Given the description of an element on the screen output the (x, y) to click on. 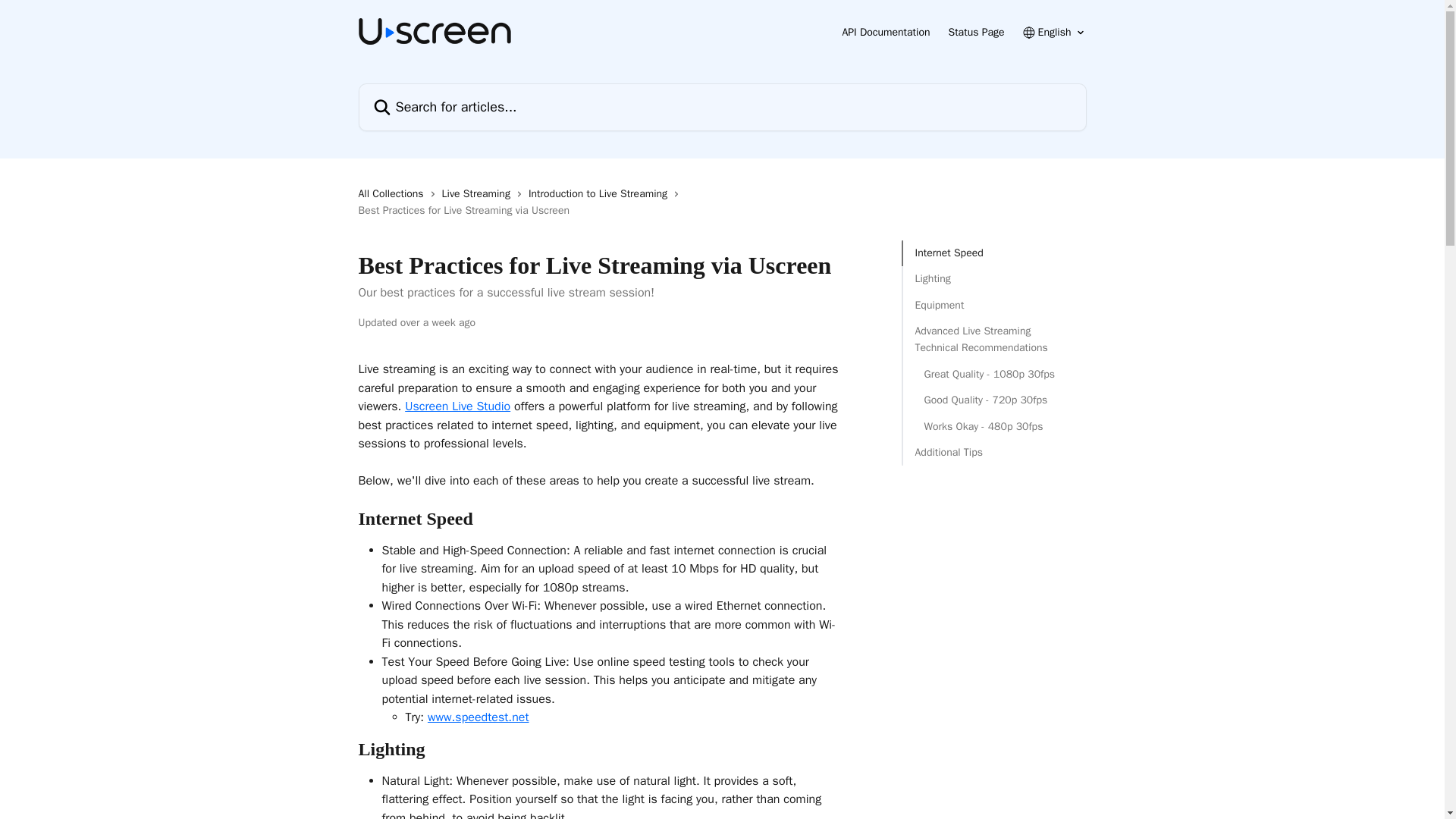
Live Streaming (479, 193)
Great Quality - 1080p 30fps (993, 374)
Internet Speed (994, 252)
Works Okay - 480p 30fps (993, 426)
Status Page (975, 32)
API Documentation (885, 32)
Good Quality - 720p 30fps (993, 400)
www.speedtest.net (478, 717)
Introduction to Live Streaming (600, 193)
Uscreen Live Studio (457, 406)
